Given the description of an element on the screen output the (x, y) to click on. 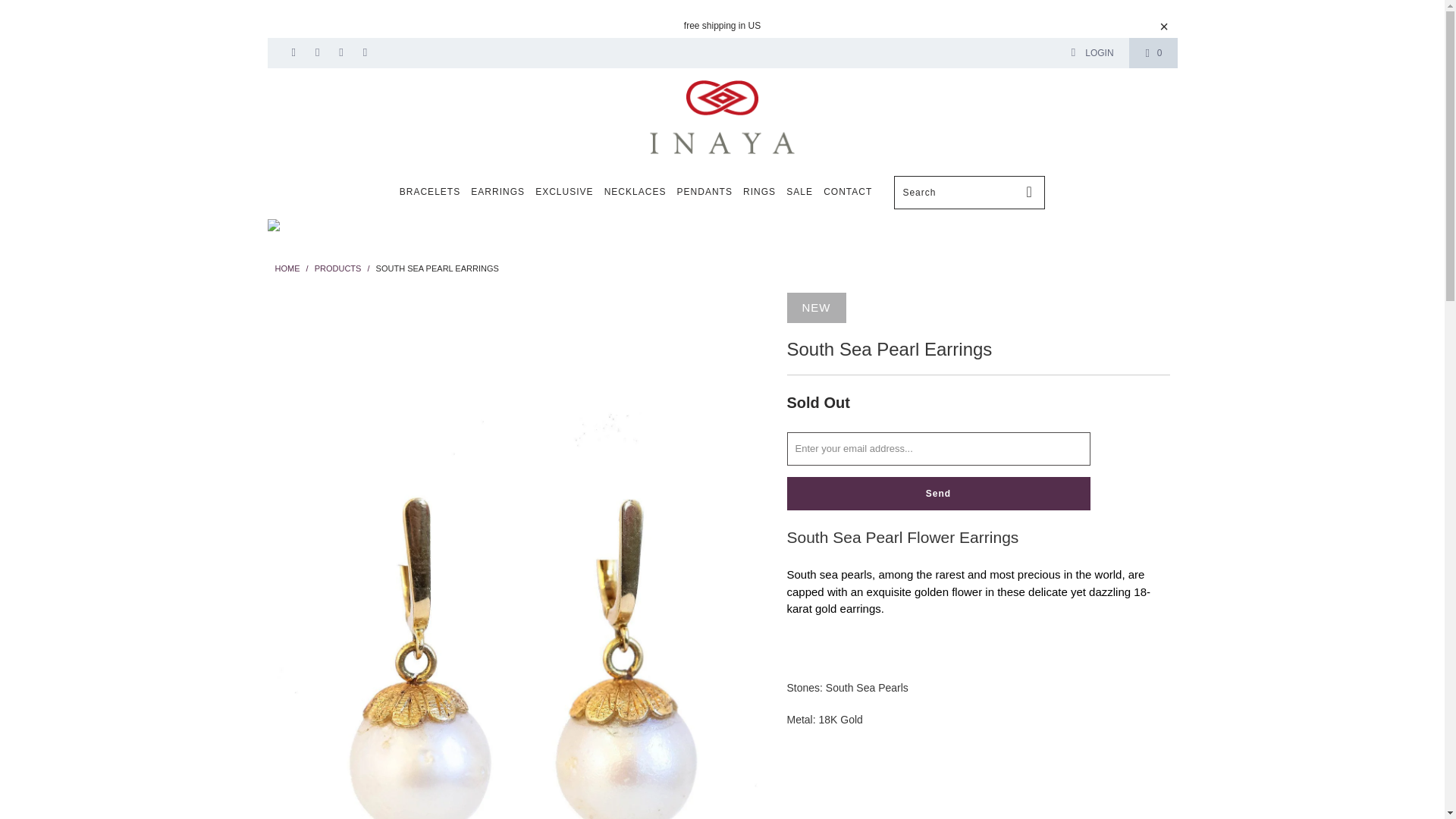
INAYA (721, 116)
Email INAYA (364, 52)
My Account  (1091, 52)
Send (938, 493)
INAYA on Facebook (292, 52)
0 (1153, 52)
INAYA on Pinterest (316, 52)
Products (337, 267)
INAYA (287, 267)
INAYA on Instagram (339, 52)
